Given the description of an element on the screen output the (x, y) to click on. 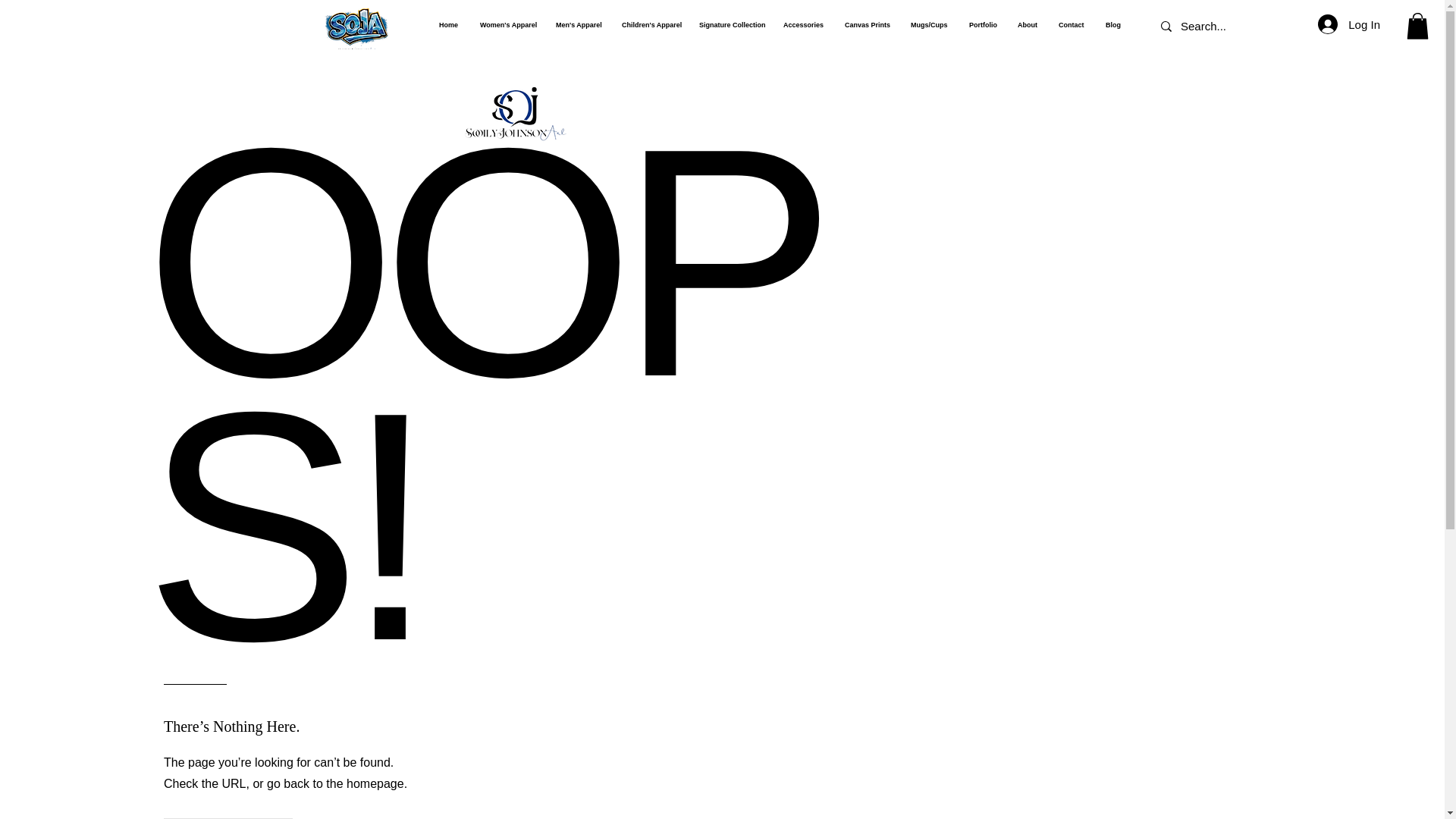
Portfolio (982, 24)
Contact (1070, 24)
SOJA Clothing (356, 26)
Home (448, 24)
Signature Collection (729, 24)
Children's Apparel (648, 24)
Accessories (801, 24)
Men's Apparel (577, 24)
Blog (1112, 24)
Women's Apparel (506, 24)
